Given the description of an element on the screen output the (x, y) to click on. 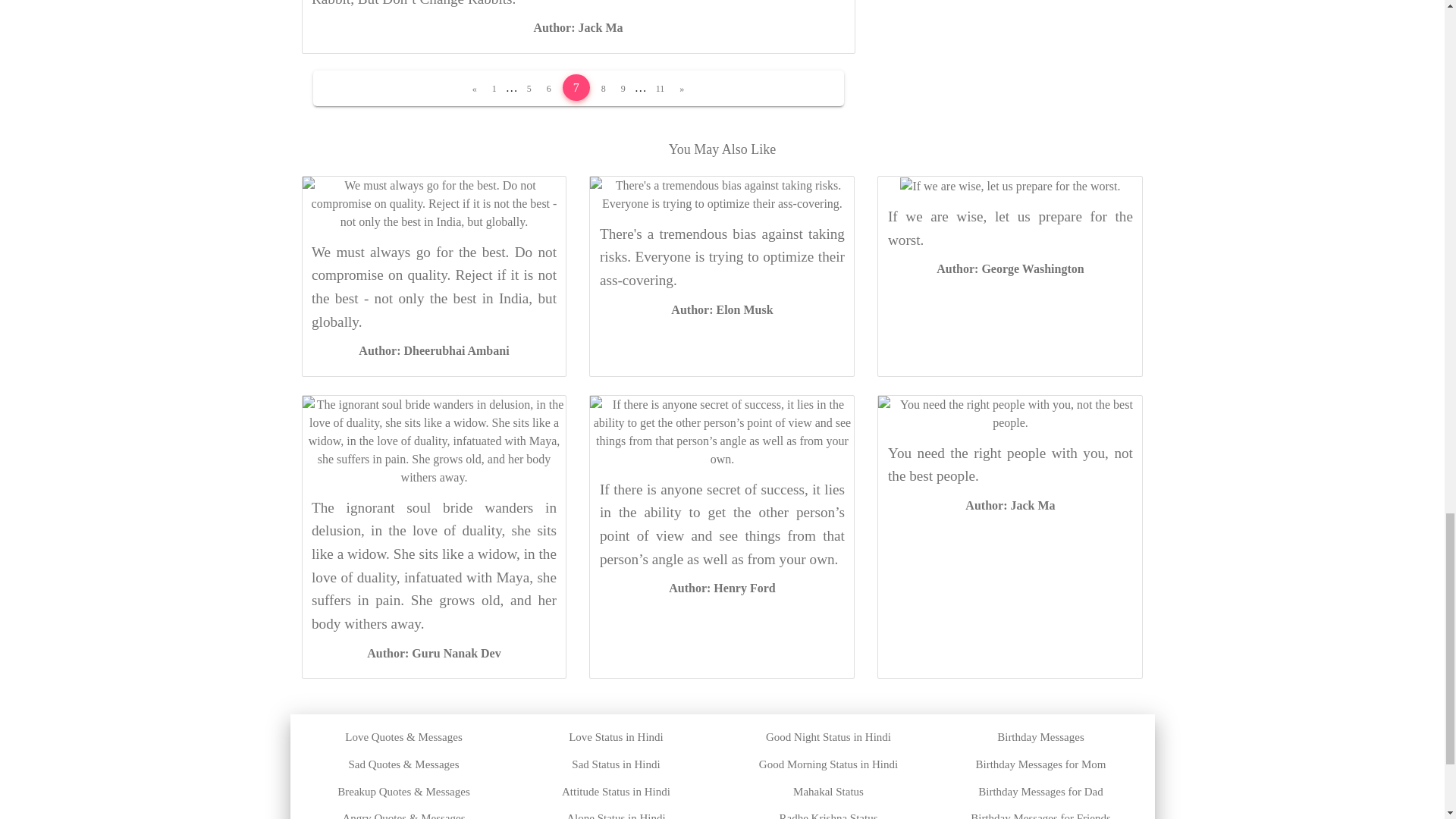
Author: Elon Musk (722, 309)
Elon Musk quotes (722, 309)
6 (548, 88)
9 (622, 88)
Author: George Washington (1009, 268)
1 (493, 88)
11 (660, 88)
5 (528, 88)
